Given the description of an element on the screen output the (x, y) to click on. 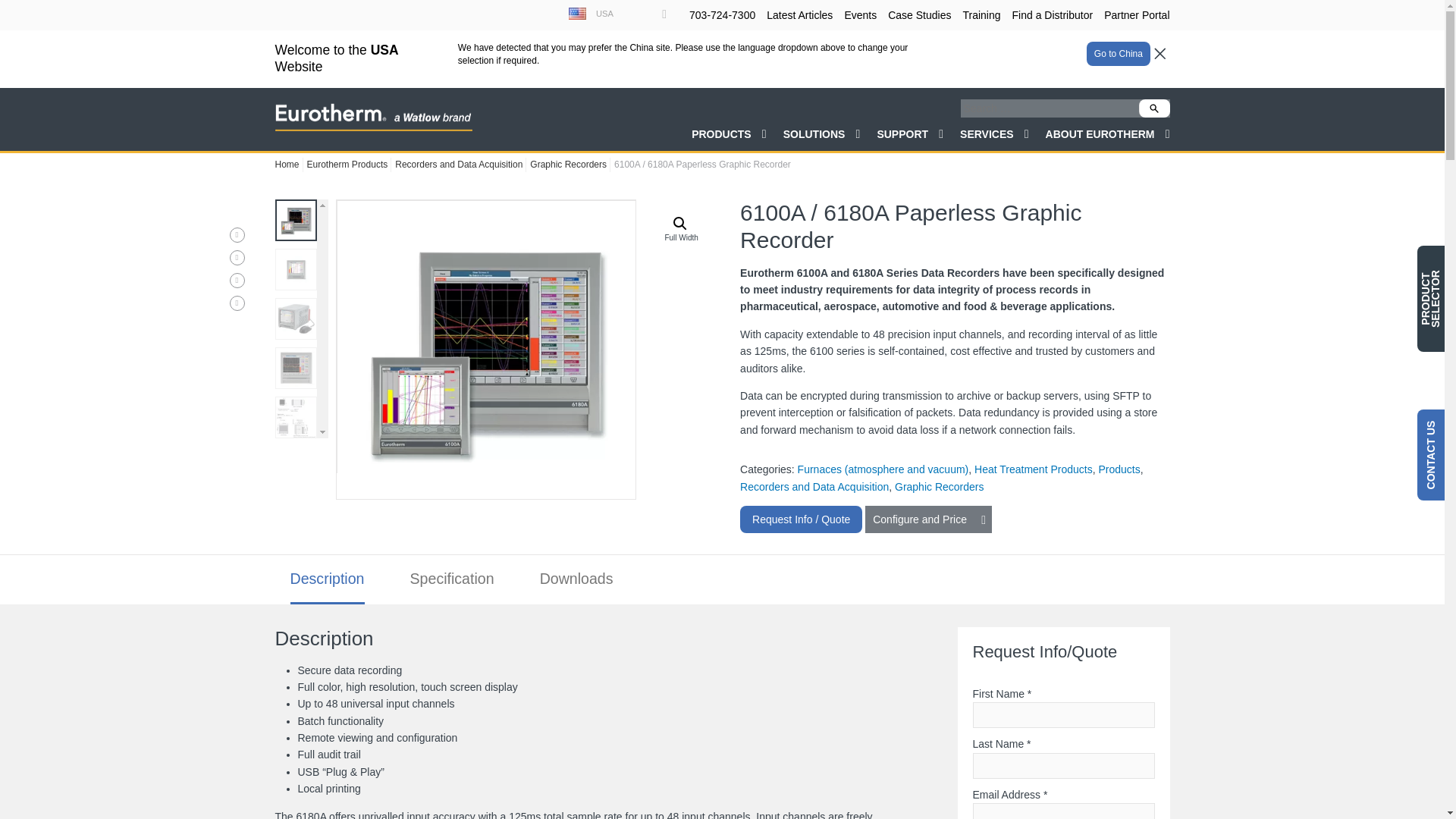
PRODUCTS (729, 80)
Search for: (1064, 50)
Training (981, 15)
703-724-7300 (721, 15)
Case Studies (919, 15)
Find a Distributor (1052, 15)
Events (860, 15)
Partner Portal (1136, 15)
Latest Articles (799, 15)
